Given the description of an element on the screen output the (x, y) to click on. 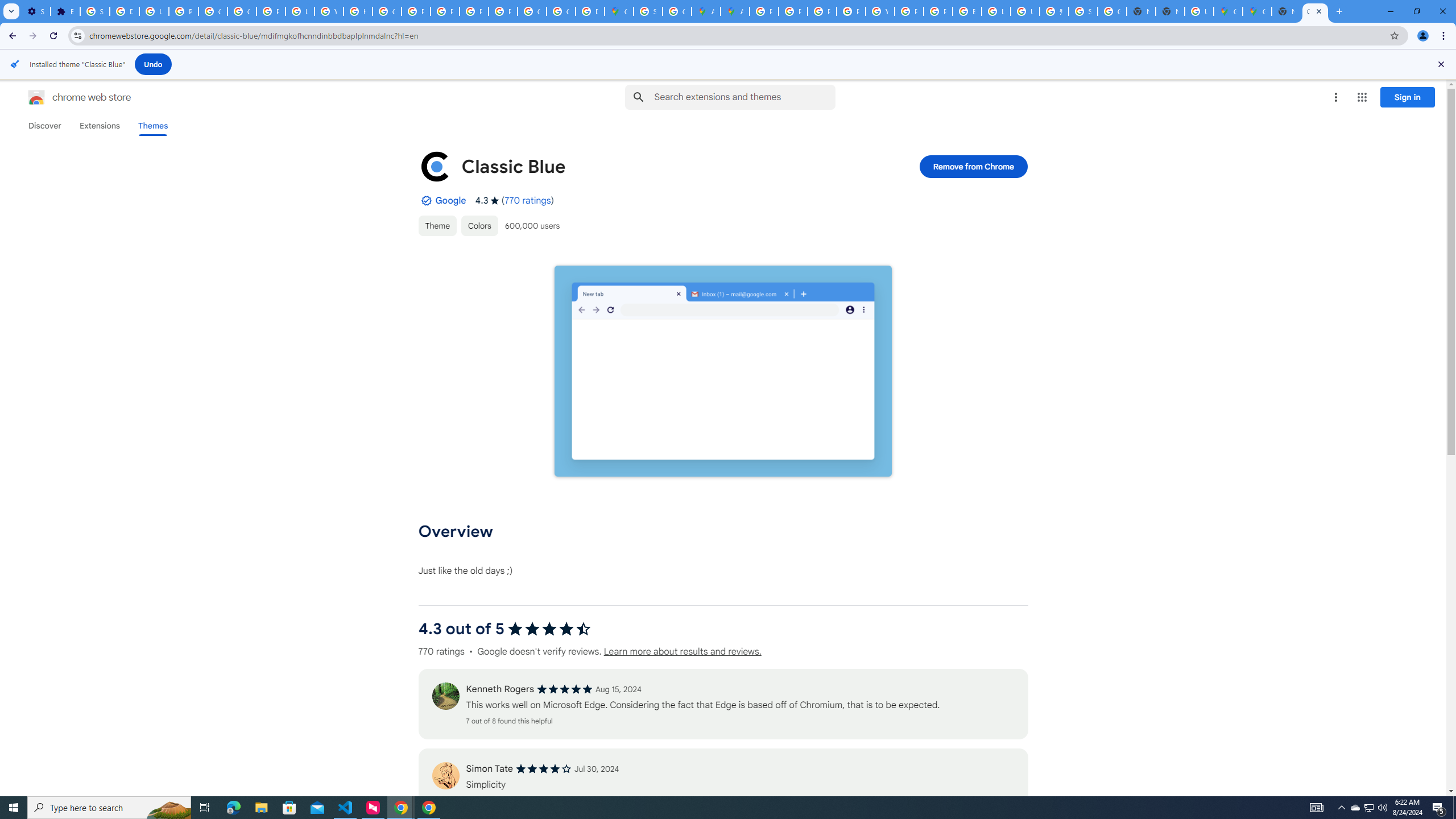
YouTube (327, 11)
YouTube (879, 11)
4.3 out of 5 stars (549, 629)
Use Google Maps in Space - Google Maps Help (1198, 11)
Google Account Help (212, 11)
Chrome Web Store logo (36, 97)
More options menu (1335, 96)
Privacy Help Center - Policies Help (821, 11)
